Given the description of an element on the screen output the (x, y) to click on. 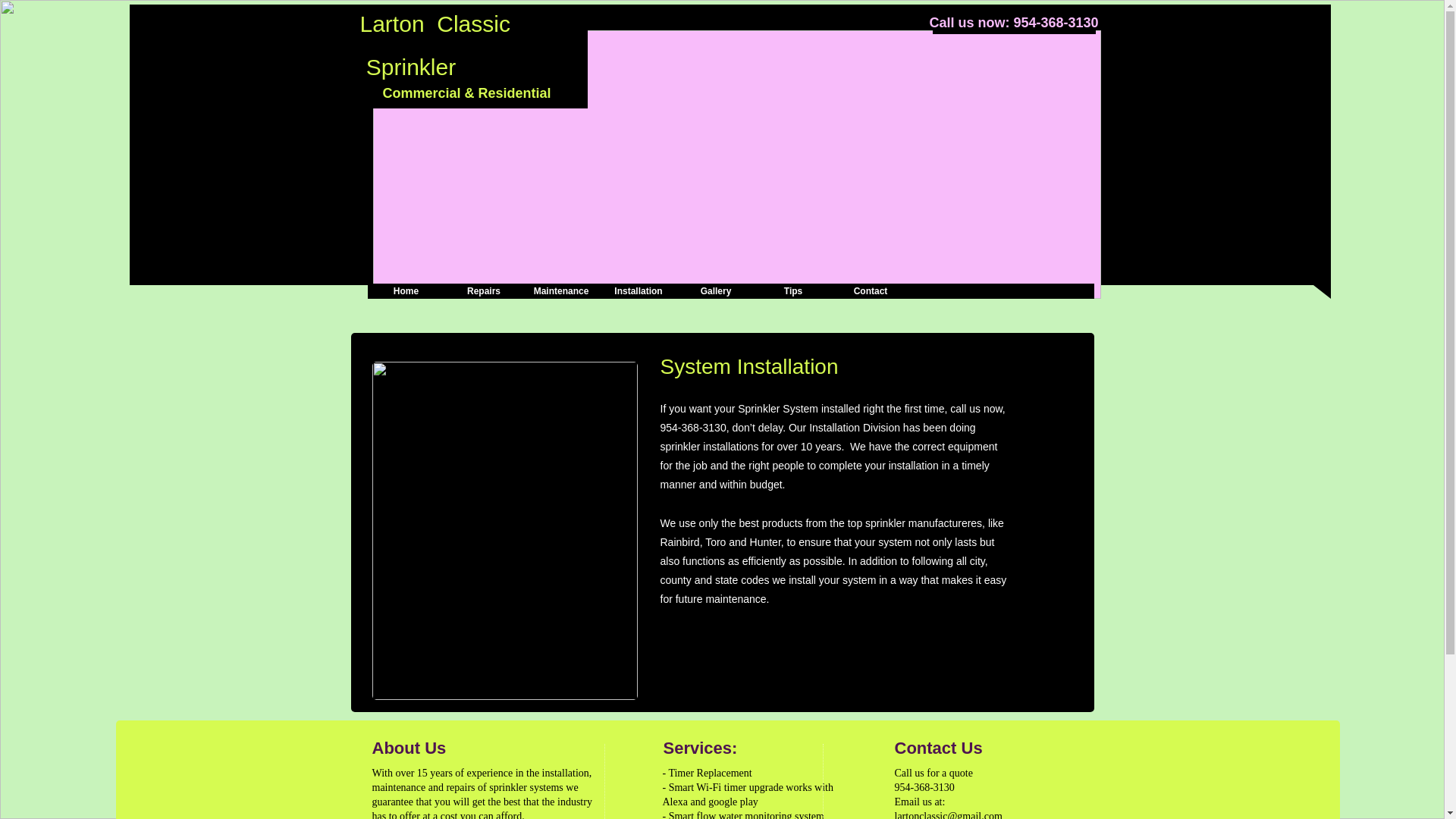
Larton  Classic  Sprinkler (434, 41)
Contact (869, 290)
Tips (792, 290)
Gallery (715, 290)
Installation (637, 290)
Home (405, 290)
Maintenance (559, 290)
Repairs (482, 290)
